Given the description of an element on the screen output the (x, y) to click on. 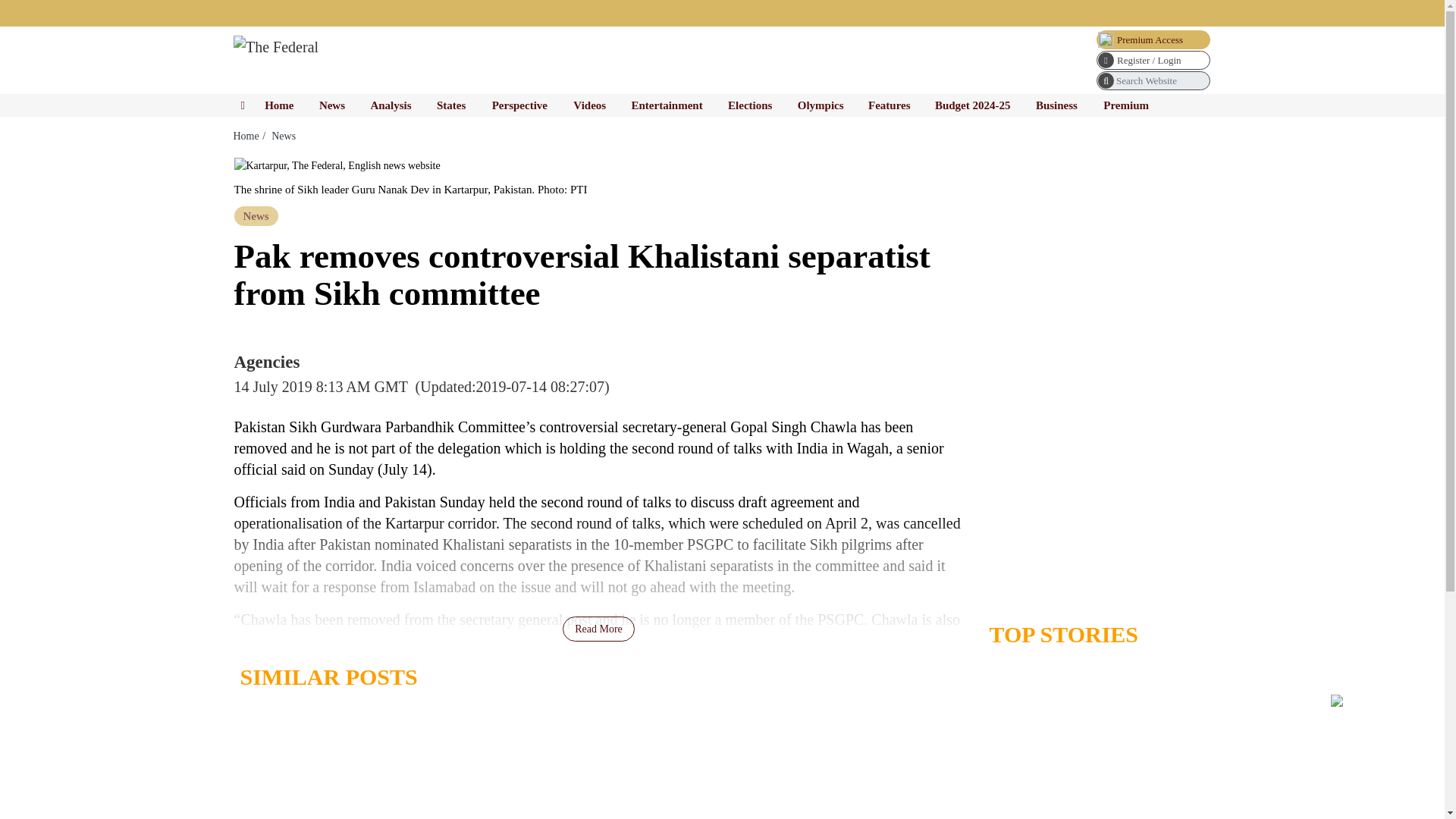
Kartarpur, The Federal, English news website (335, 165)
Premium Access (1152, 39)
The Federal (275, 47)
